Given the description of an element on the screen output the (x, y) to click on. 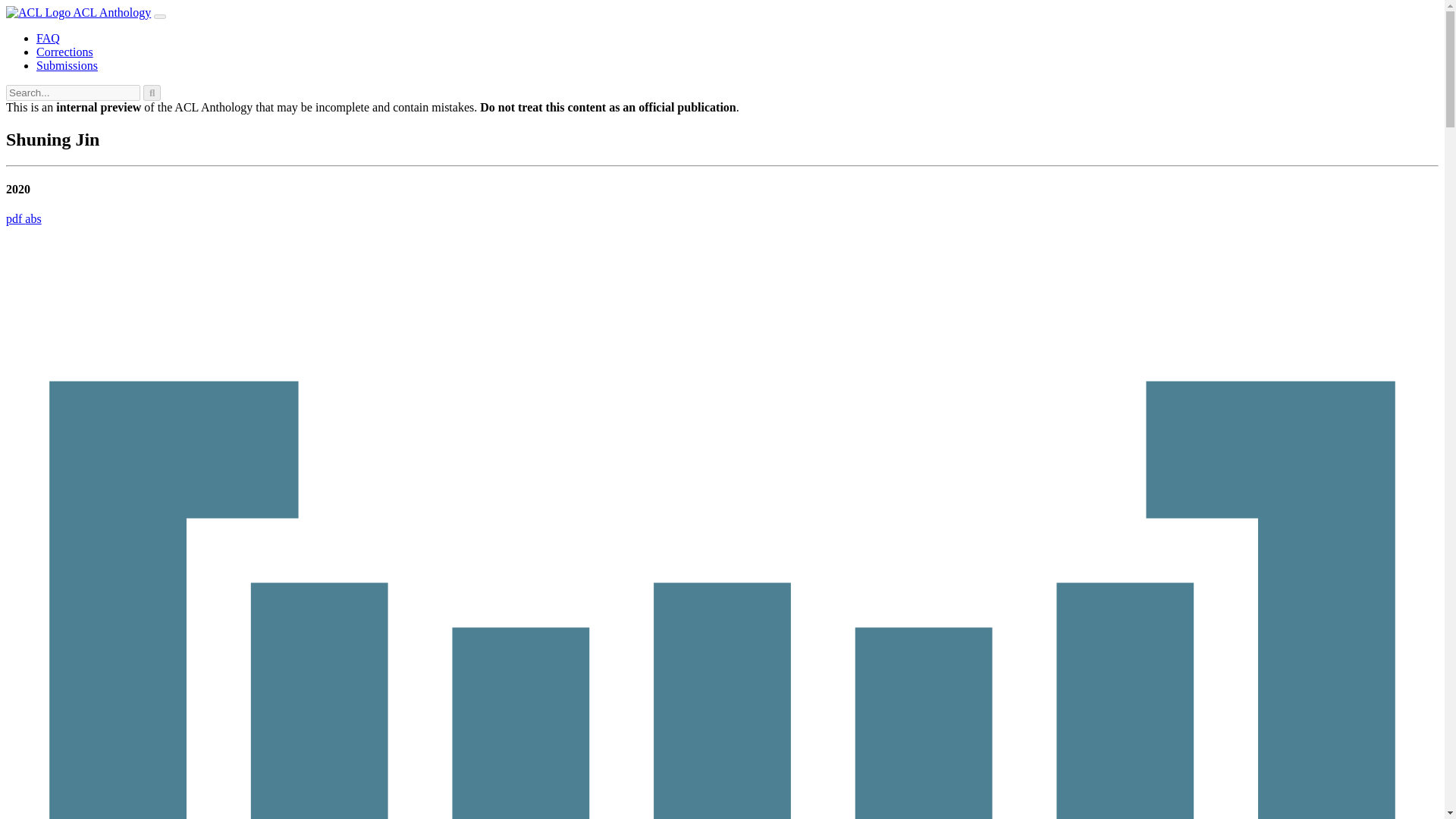
Open PDF (14, 218)
abs (32, 218)
ACL Anthology (78, 11)
pdf (14, 218)
Show Abstract (32, 218)
